Given the description of an element on the screen output the (x, y) to click on. 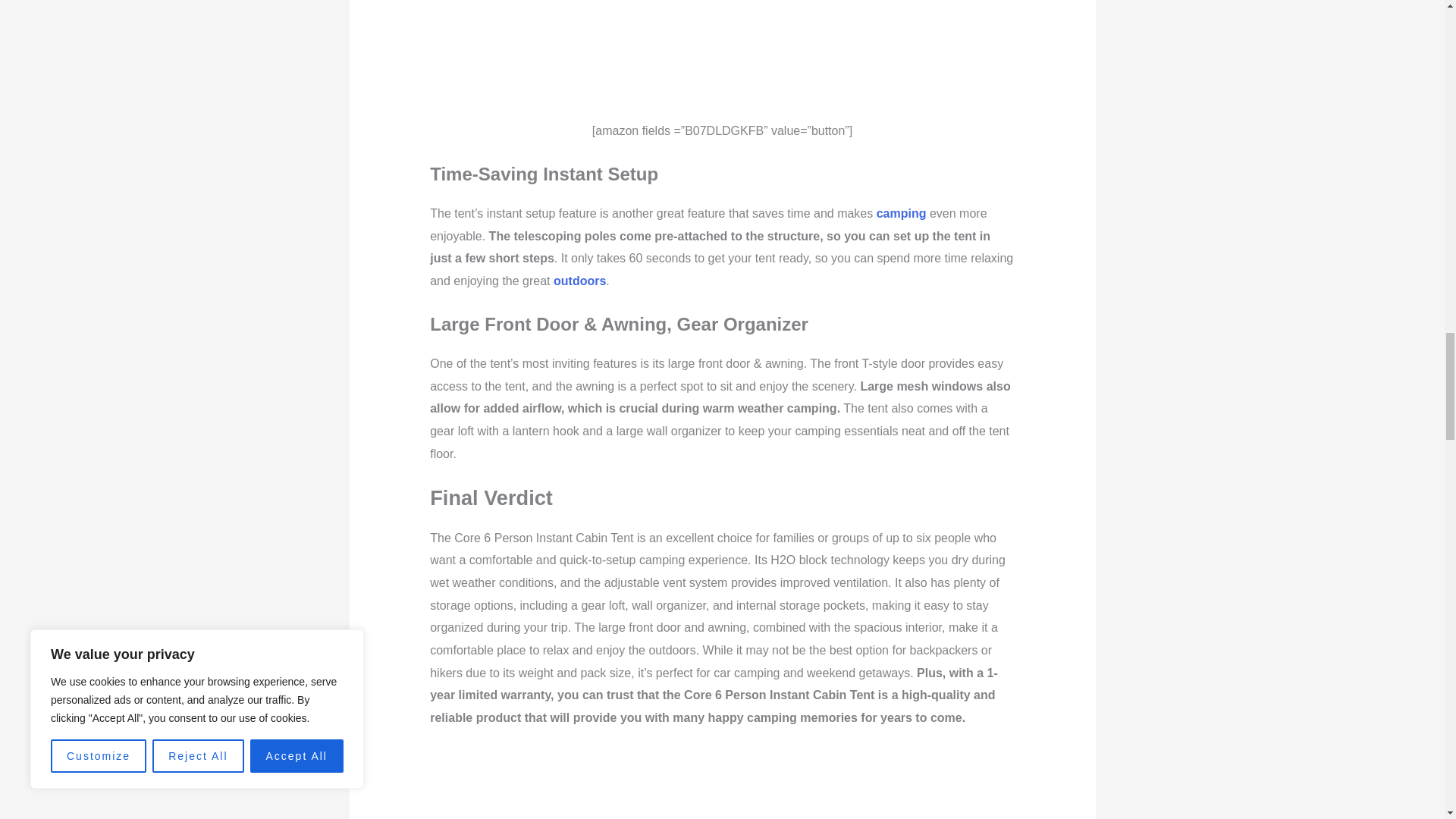
outdoors (579, 280)
camping (901, 213)
